Given the description of an element on the screen output the (x, y) to click on. 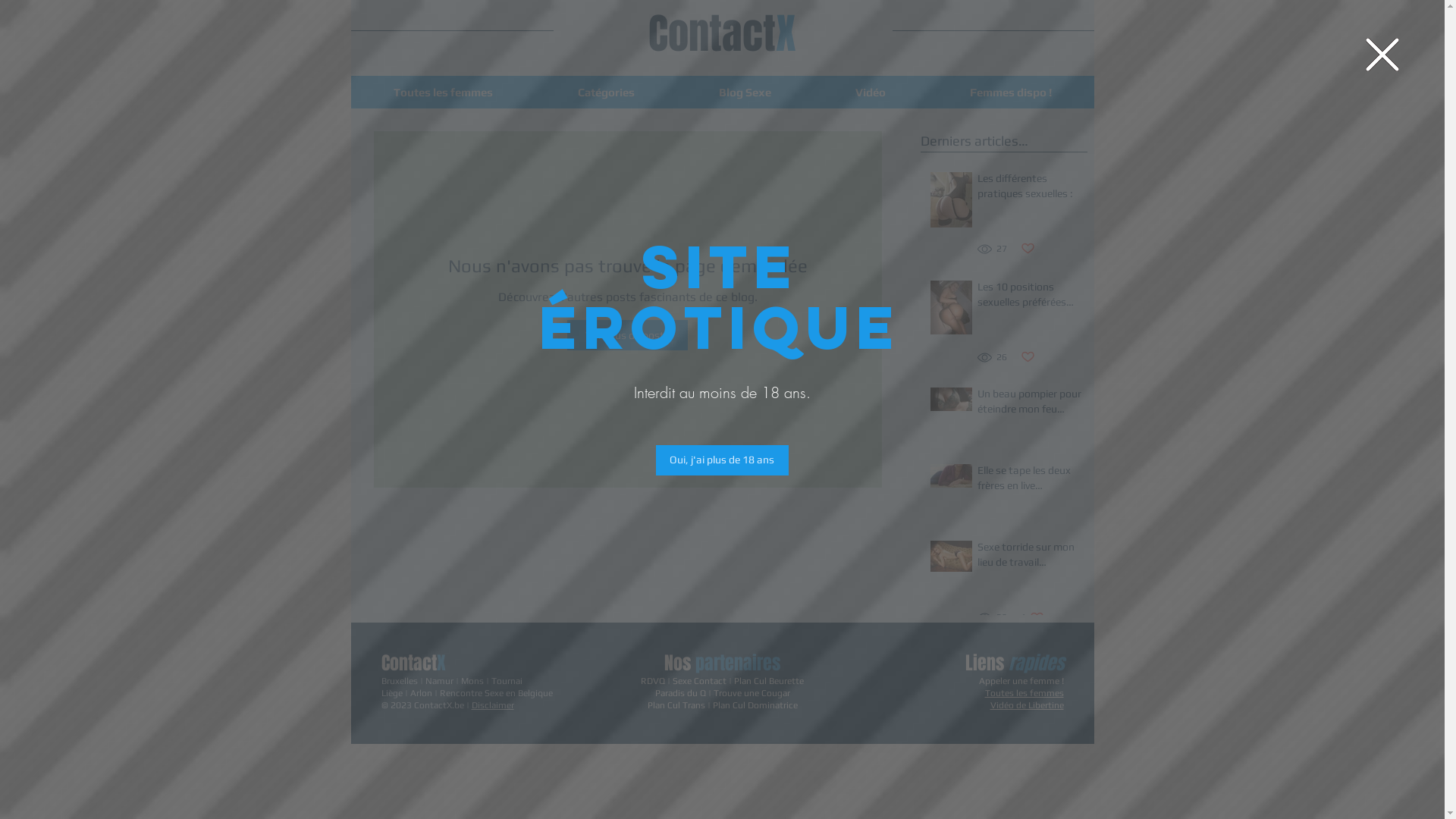
Vous n'aimez plus ce post Element type: text (1027, 357)
Blog Sexe Element type: text (744, 92)
Disclaimer Element type: text (492, 704)
Voir plus de posts Element type: text (627, 335)
Toutes les femmes Element type: text (1023, 692)
Vous n'aimez plus ce post Element type: text (1027, 249)
Retour au site Element type: hover (1382, 54)
Femmes dispo ! Element type: text (1011, 92)
ContactX Element type: text (722, 33)
1 j'aime. Vous n'aimez plus ce post
1 Element type: text (1032, 617)
Toutes les femmes Element type: text (442, 92)
